Given the description of an element on the screen output the (x, y) to click on. 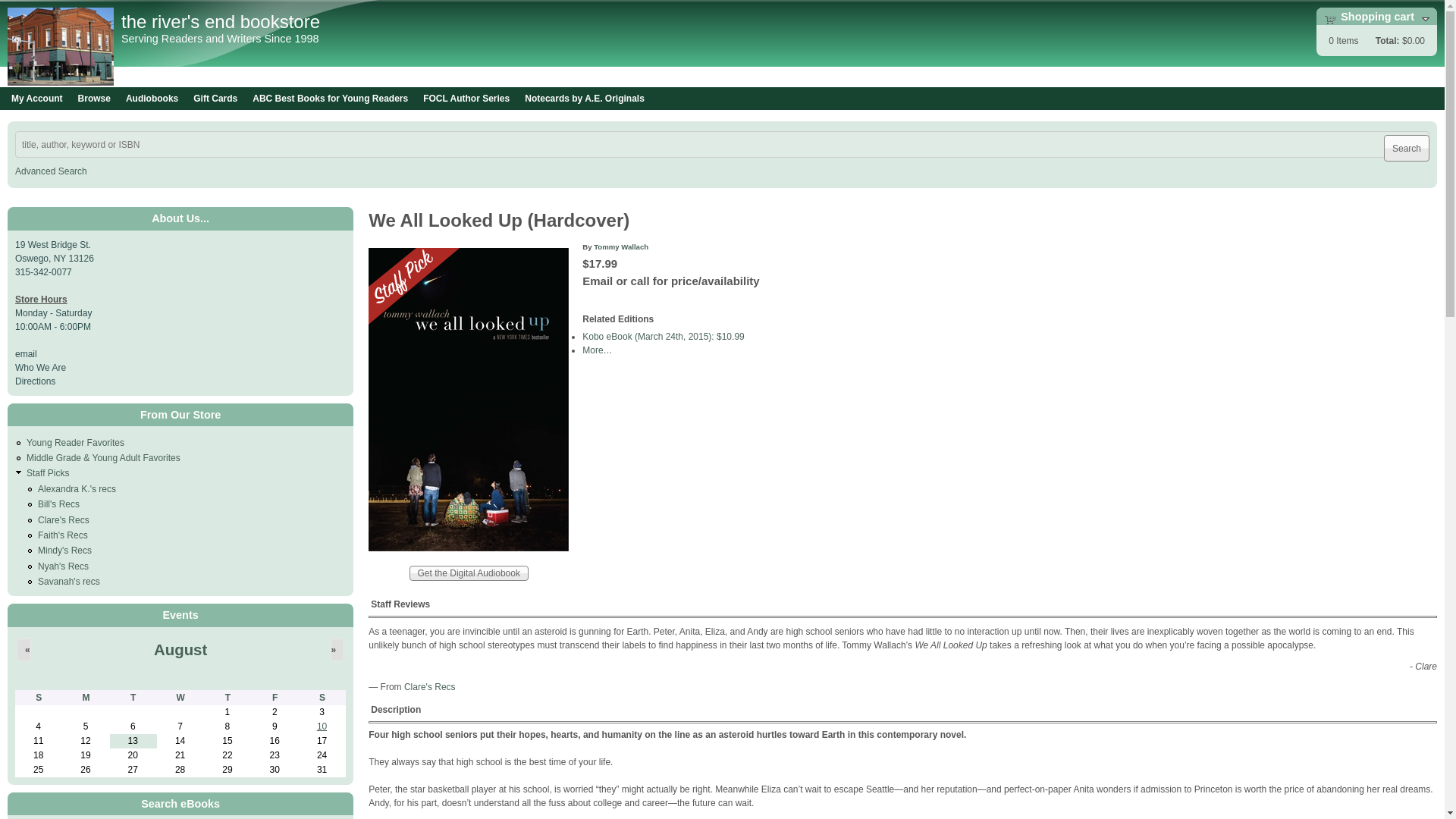
Gift Cards (215, 98)
email (25, 353)
Get the Digital Audiobook (468, 572)
Savanah's recs (68, 581)
Home page (60, 81)
August (180, 649)
Book recommendations from Nyah! (62, 566)
View your shopping cart. (1329, 19)
My Account (36, 98)
Mindy's Recs (64, 550)
